Given the description of an element on the screen output the (x, y) to click on. 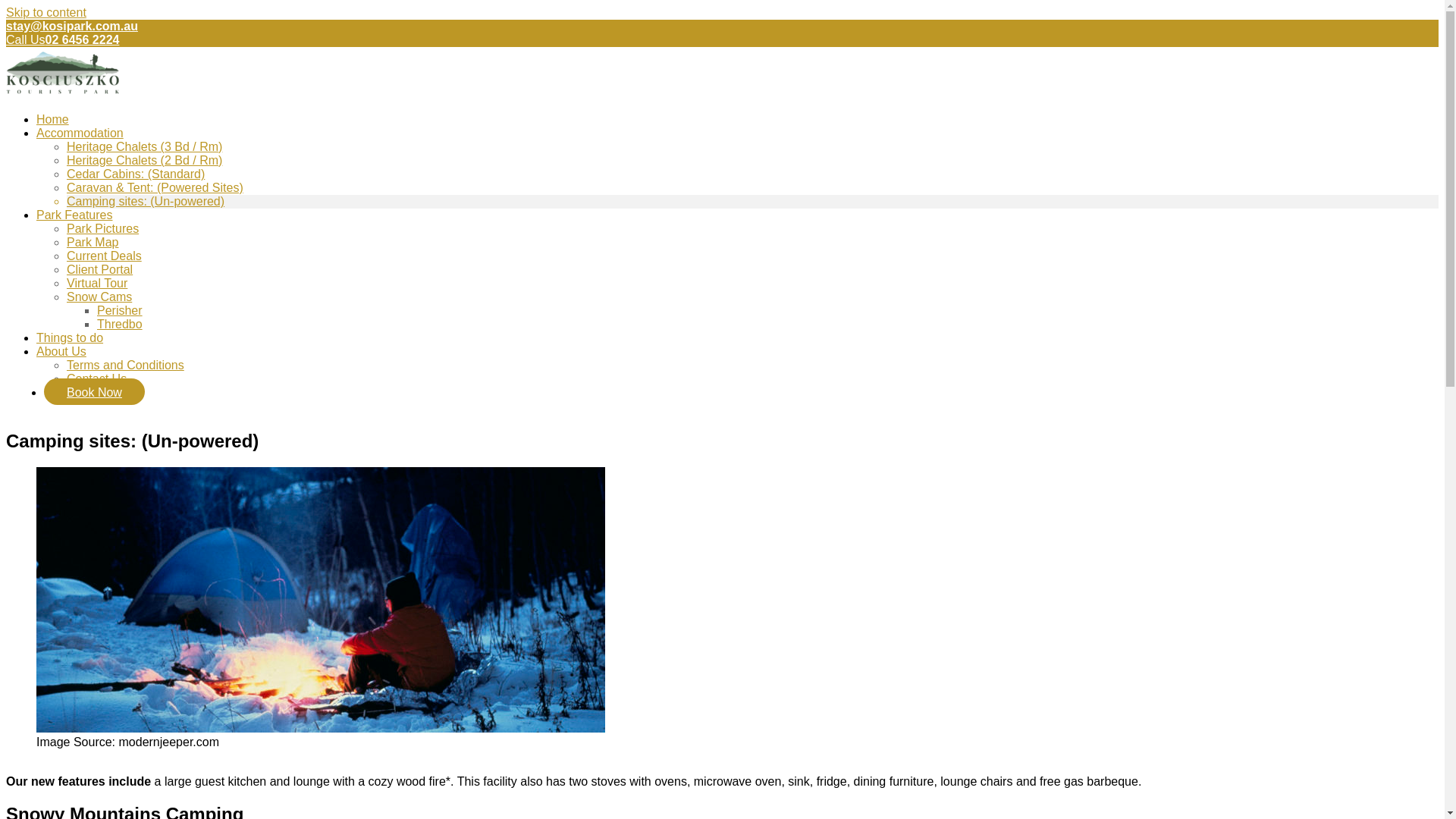
Park Map Element type: text (92, 241)
Call Us02 6456 2224 Element type: text (722, 40)
Thredbo Element type: text (119, 323)
Book Now Element type: text (93, 391)
Skip to content Element type: text (46, 12)
Client Portal Element type: text (99, 269)
Cedar Cabins: (Standard) Element type: text (135, 173)
Things to do Element type: text (69, 337)
Terms and Conditions Element type: text (125, 364)
Park Features Element type: text (74, 214)
stay@kosipark.com.au Element type: text (722, 26)
Heritage Chalets (2 Bd / Rm) Element type: text (144, 159)
Heritage Chalets (3 Bd / Rm) Element type: text (144, 146)
Virtual Tour Element type: text (96, 282)
Park Pictures Element type: text (102, 228)
Camping sites: (Un-powered) Element type: text (145, 200)
Perisher Element type: text (119, 310)
Home Element type: text (52, 118)
Current Deals Element type: text (103, 255)
Contact Us Element type: text (96, 378)
Accommodation Element type: text (79, 132)
About Us Element type: text (61, 351)
Caravan & Tent: (Powered Sites) Element type: text (154, 187)
Snow Cams Element type: text (98, 296)
